Given the description of an element on the screen output the (x, y) to click on. 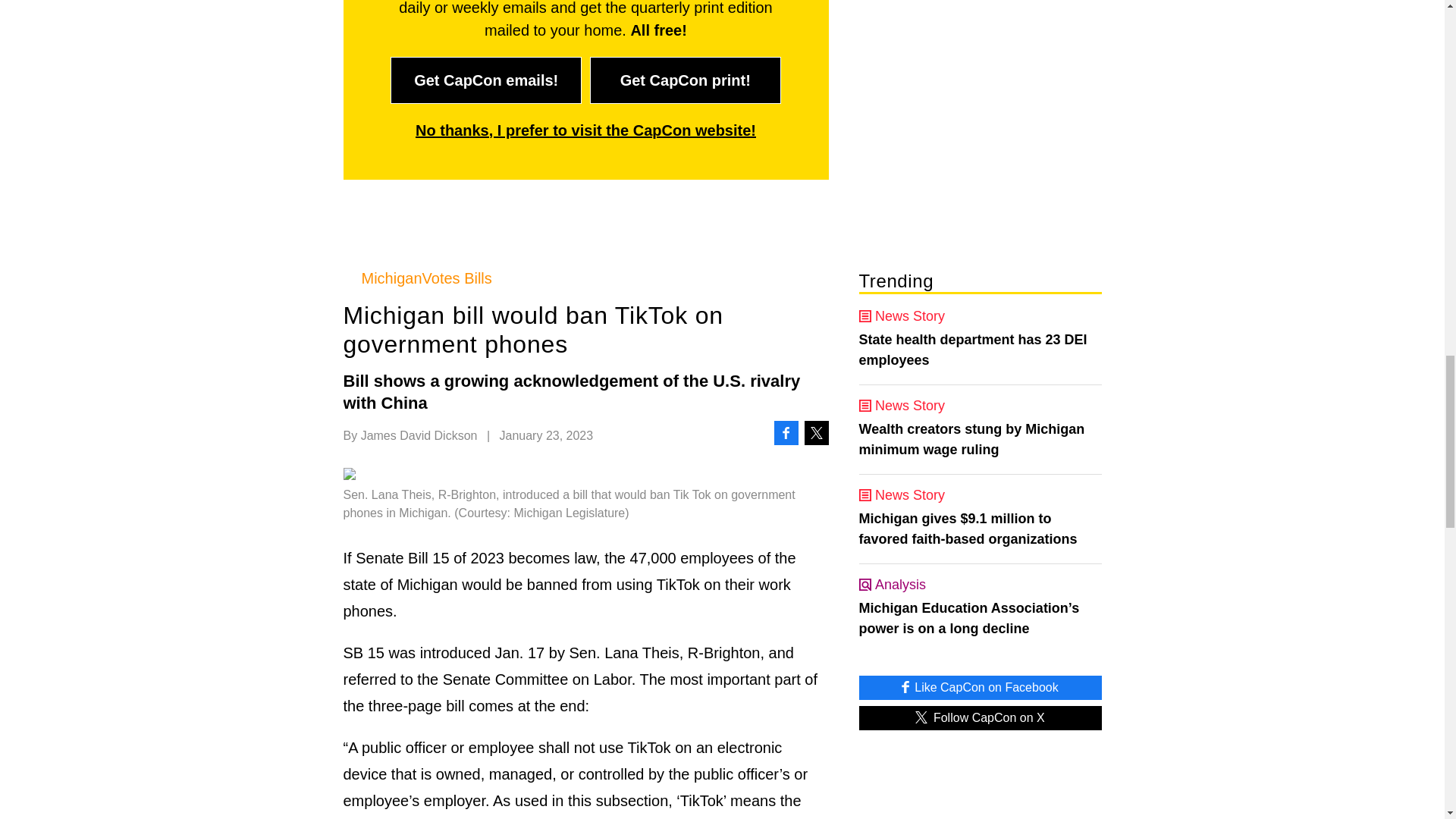
MichiganVotes Bills (585, 278)
No thanks, I prefer to visit the CapCon website! (584, 130)
Get CapCon emails! (485, 80)
James David Dickson (419, 435)
Get CapCon print! (684, 80)
